Given the description of an element on the screen output the (x, y) to click on. 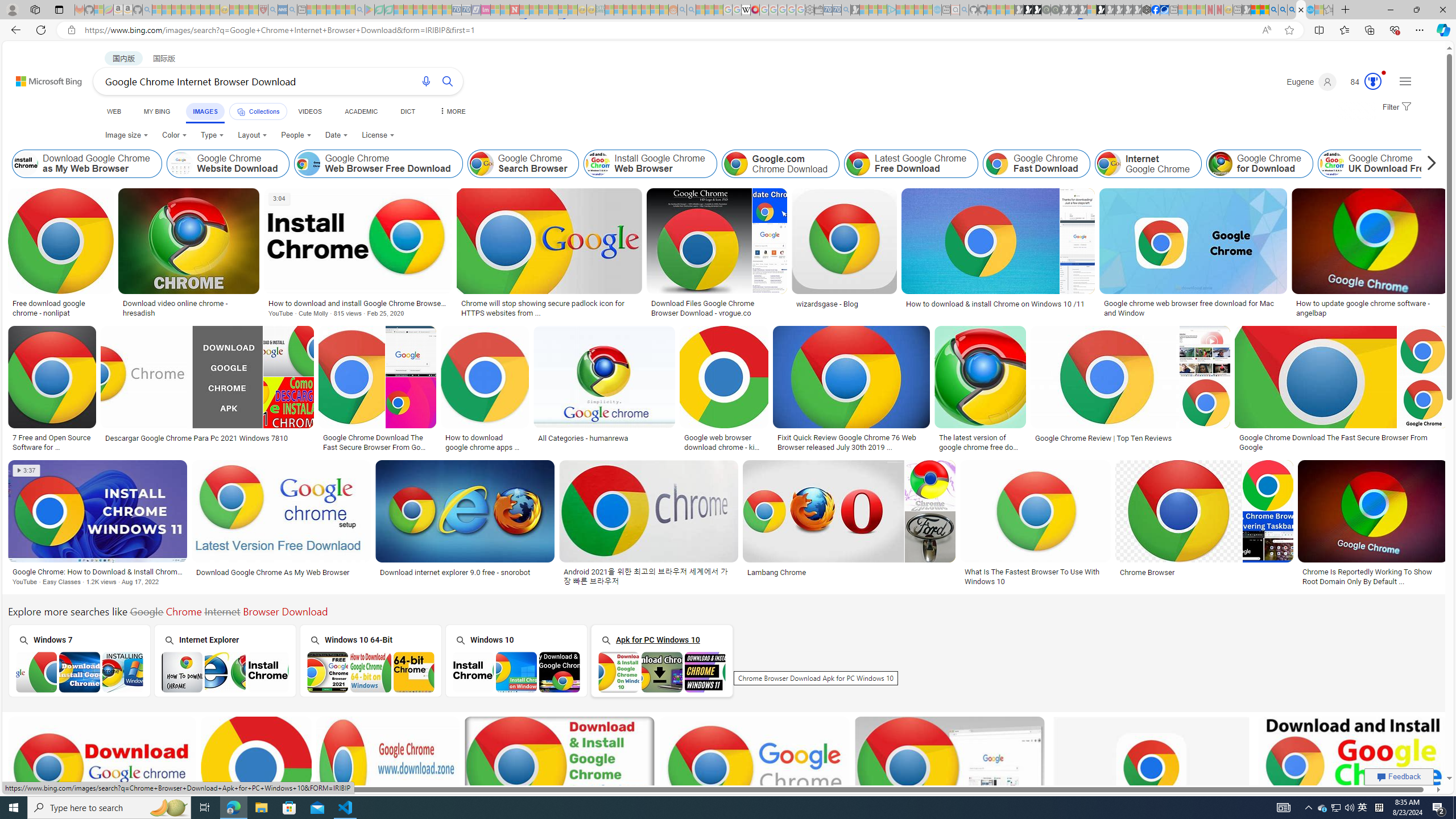
Google Chrome for Download (1260, 163)
Download video online chrome - hresadishSave (190, 254)
Cheap Hotels - Save70.com - Sleeping (466, 9)
Lambang Chrome (776, 571)
WEB (114, 111)
Apk for PC Windows 10 (661, 660)
Filter (1395, 107)
People (295, 135)
Class: item col (1379, 163)
